Given the description of an element on the screen output the (x, y) to click on. 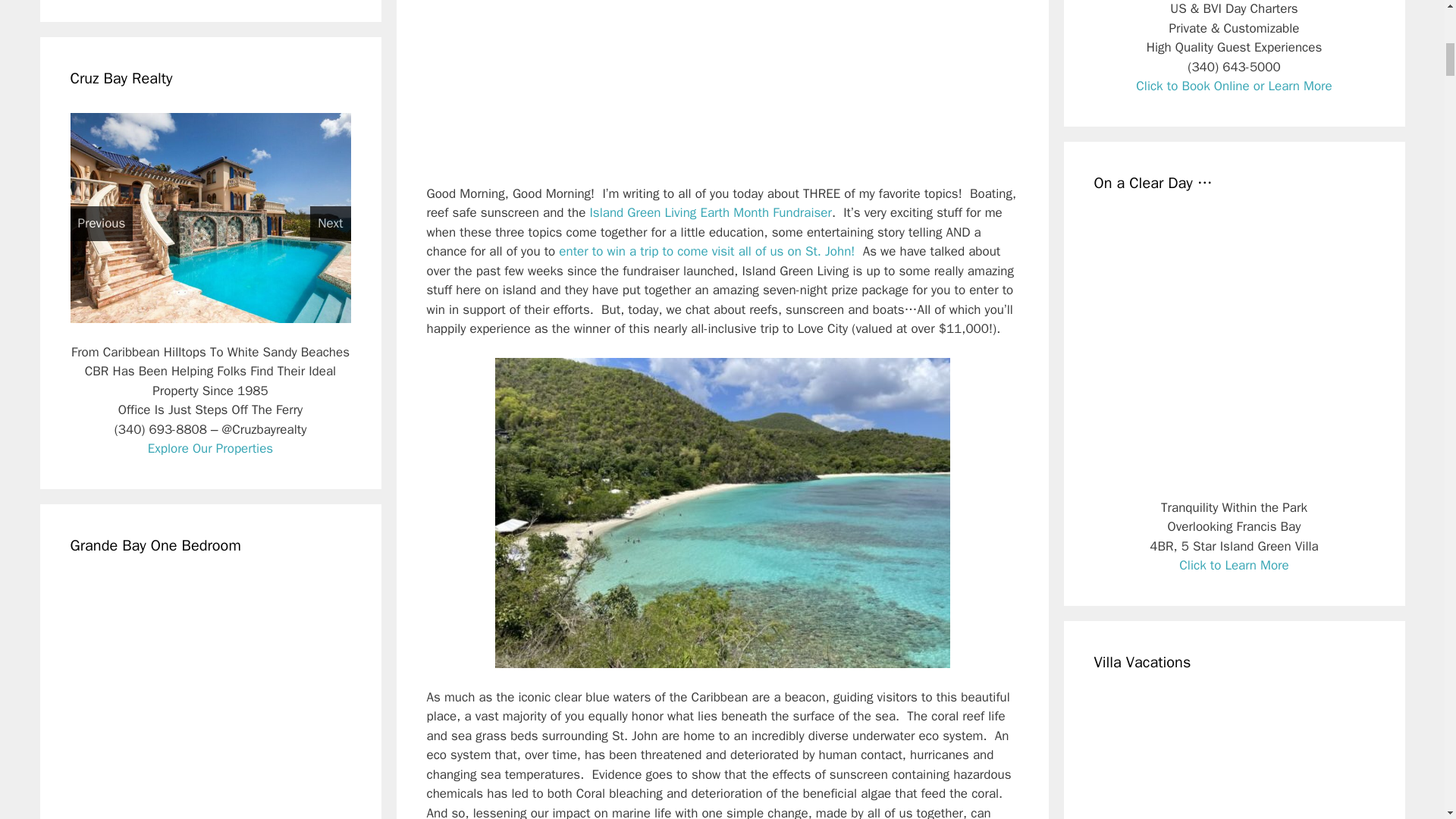
Island Green Living Earth Month Fundraiser (710, 212)
Advertisement (721, 92)
enter to win a trip to come visit all of us on St. John!  (709, 251)
